Given the description of an element on the screen output the (x, y) to click on. 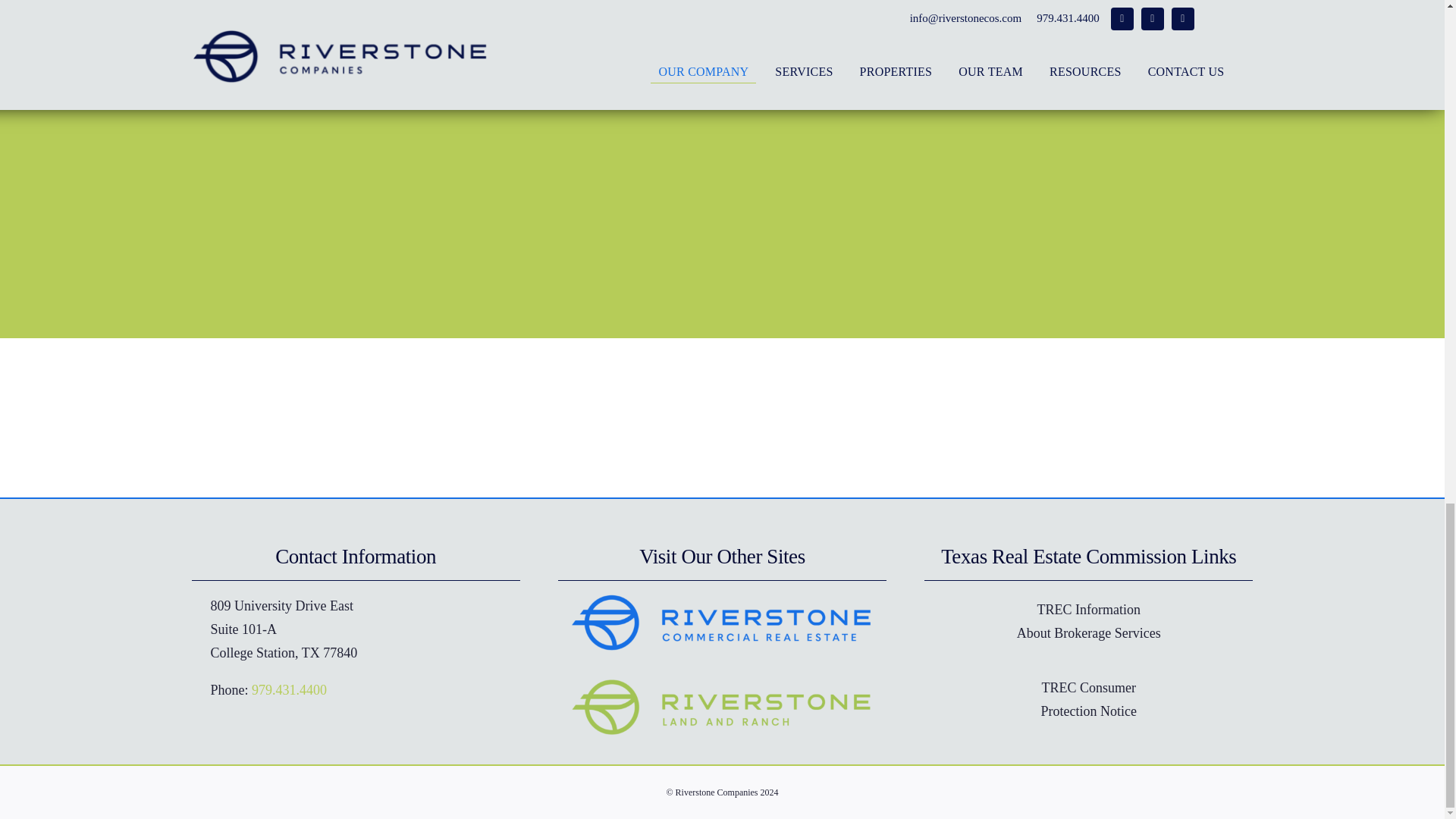
979.431.4400 (1088, 620)
